Given the description of an element on the screen output the (x, y) to click on. 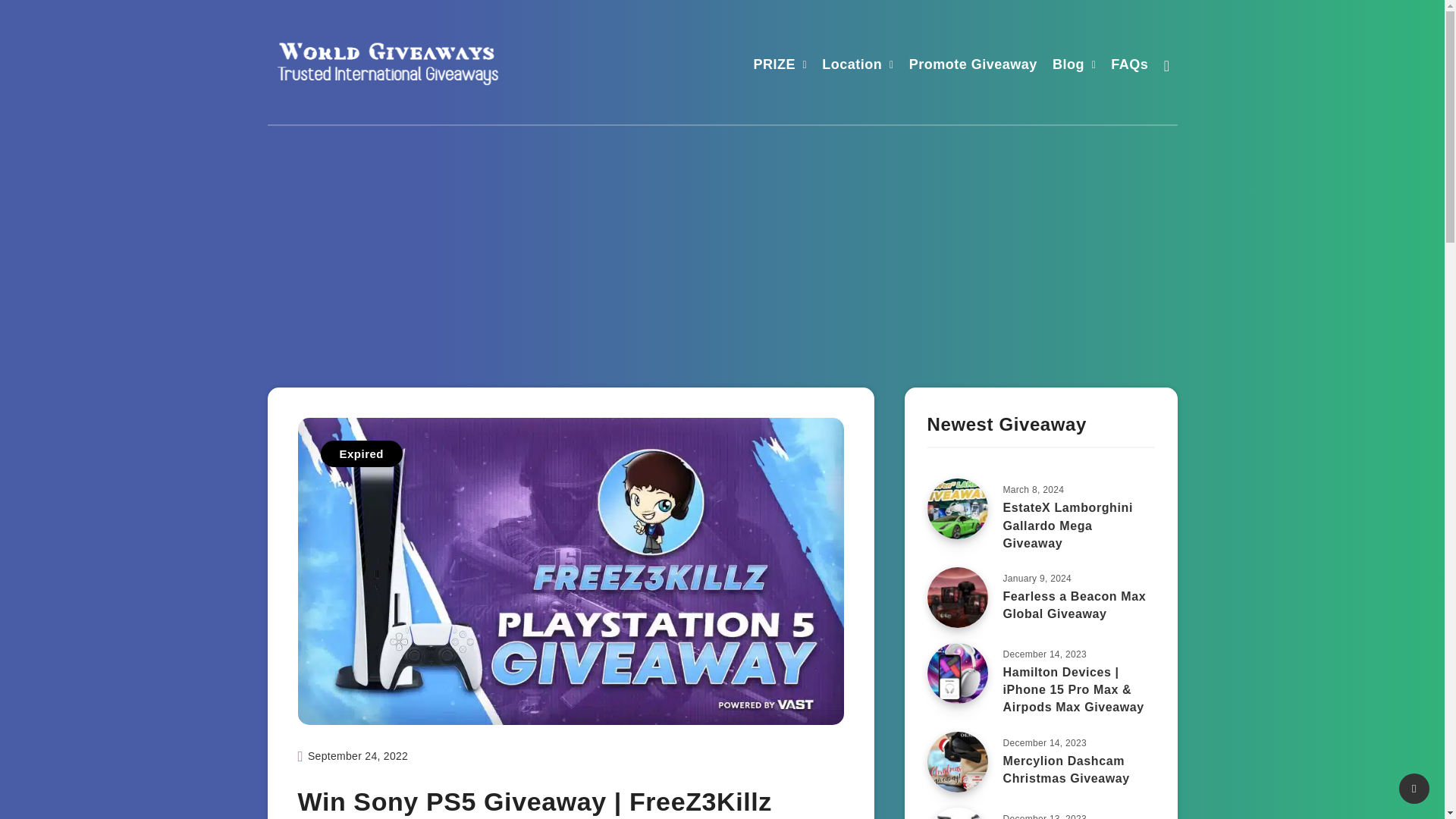
PRIZE (775, 65)
FAQs (1129, 65)
Blog (1068, 65)
Promote Giveaway (972, 65)
Expired (361, 453)
Location (852, 65)
